Given the description of an element on the screen output the (x, y) to click on. 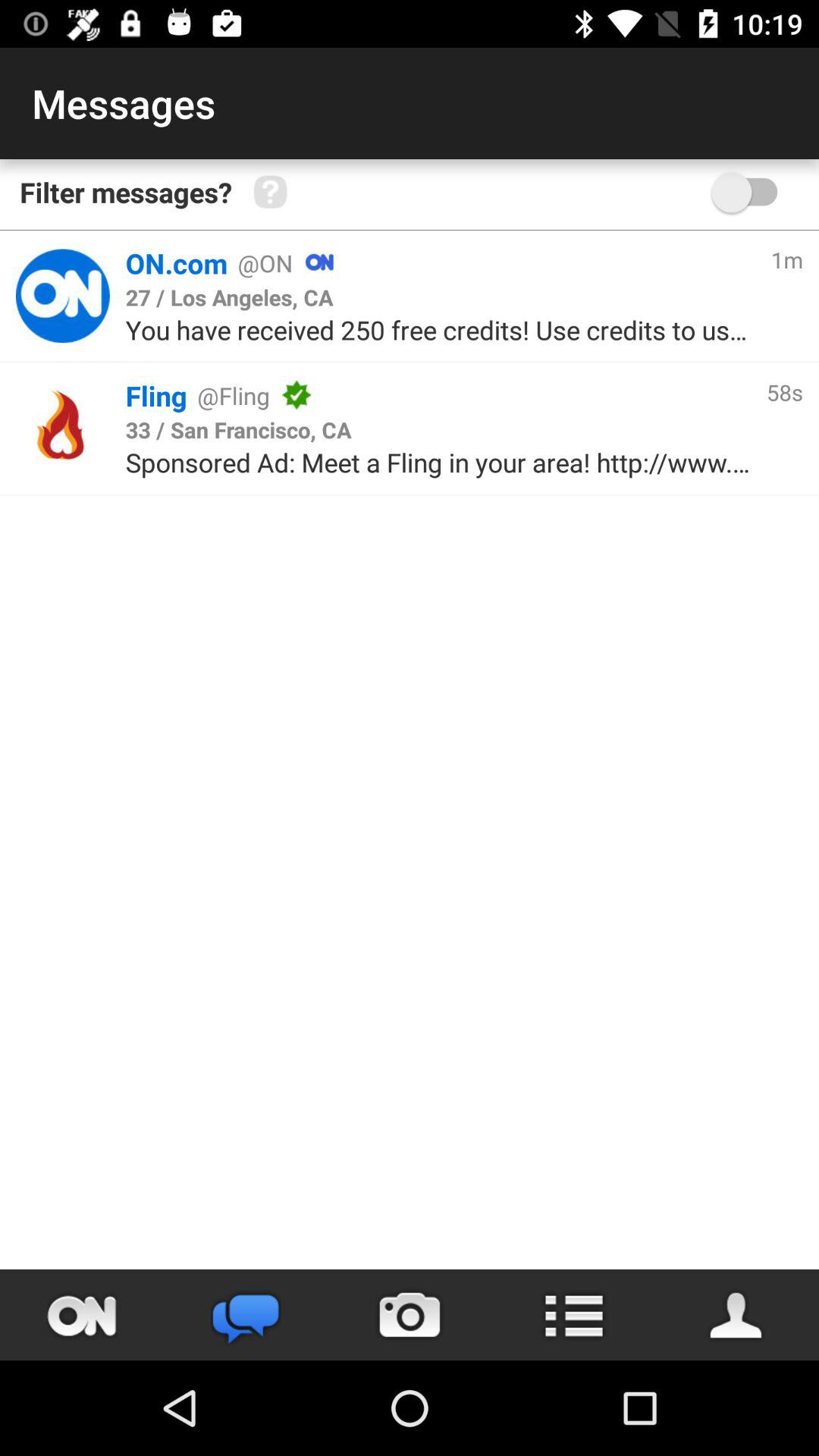
view user profile (737, 1315)
